Given the description of an element on the screen output the (x, y) to click on. 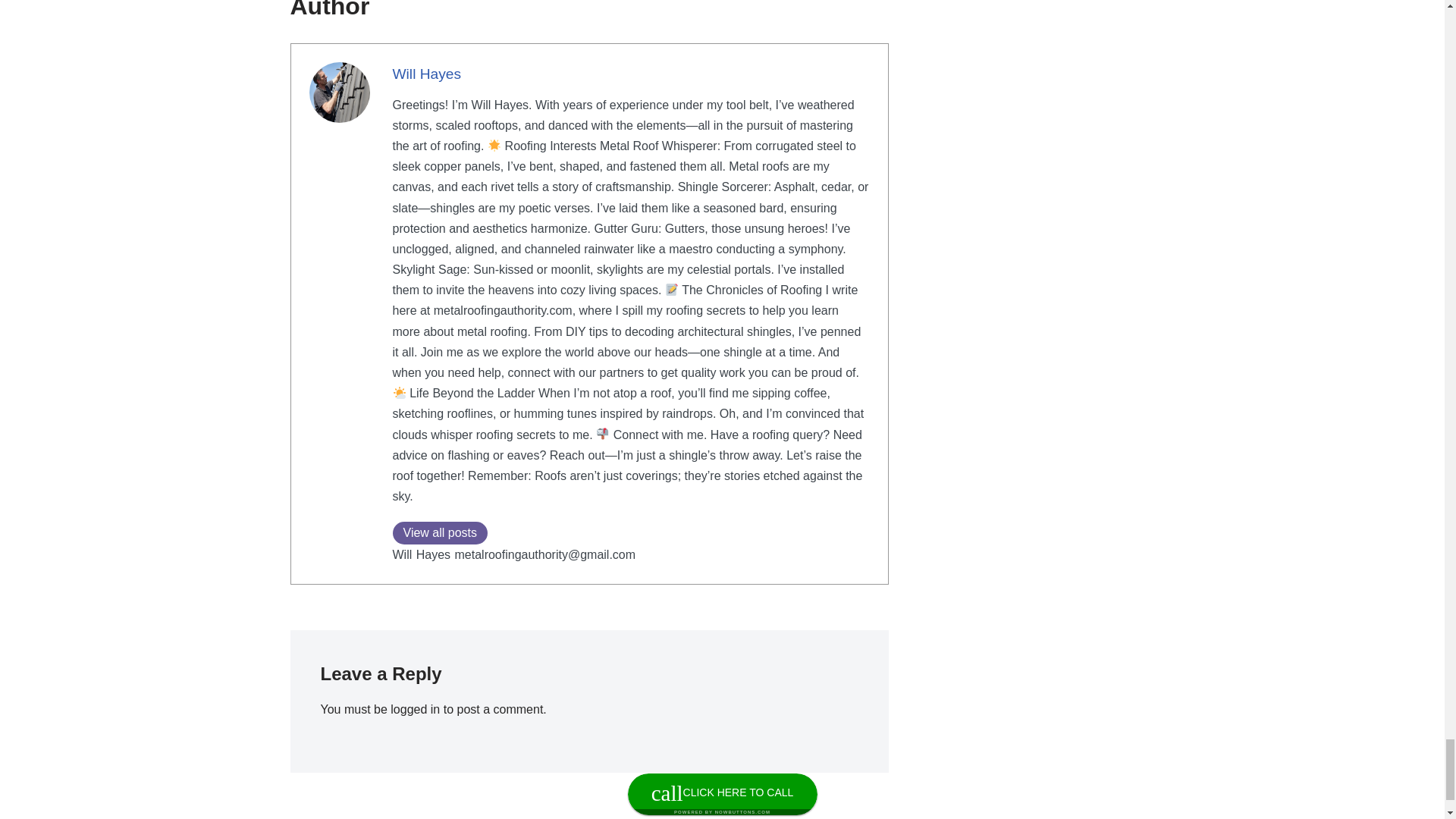
View all posts (440, 532)
Will Hayes (427, 73)
logged in (414, 707)
View all posts (440, 532)
Will Hayes (427, 73)
